Given the description of an element on the screen output the (x, y) to click on. 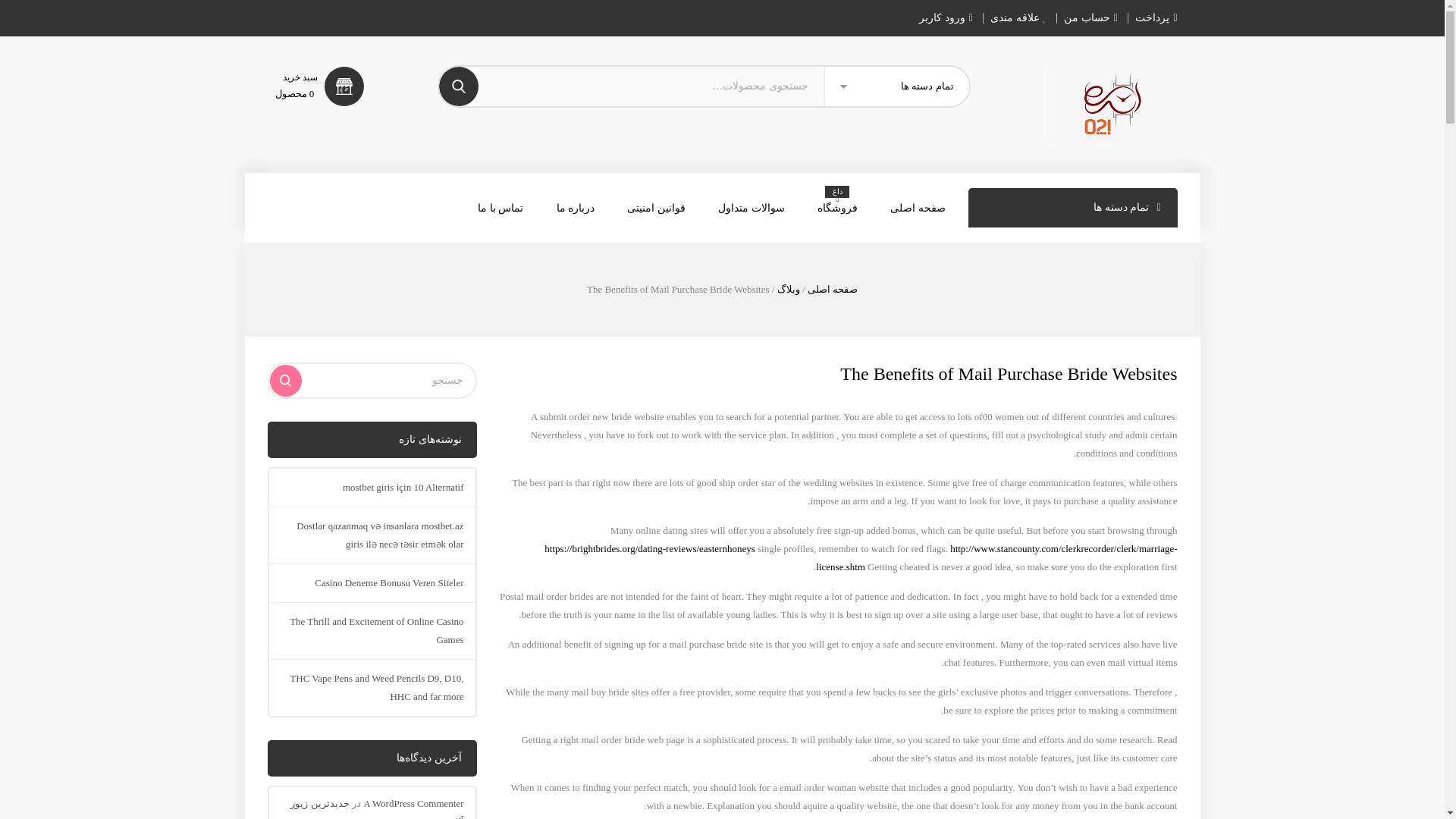
Sweet Bonanza (1112, 104)
